Given the description of an element on the screen output the (x, y) to click on. 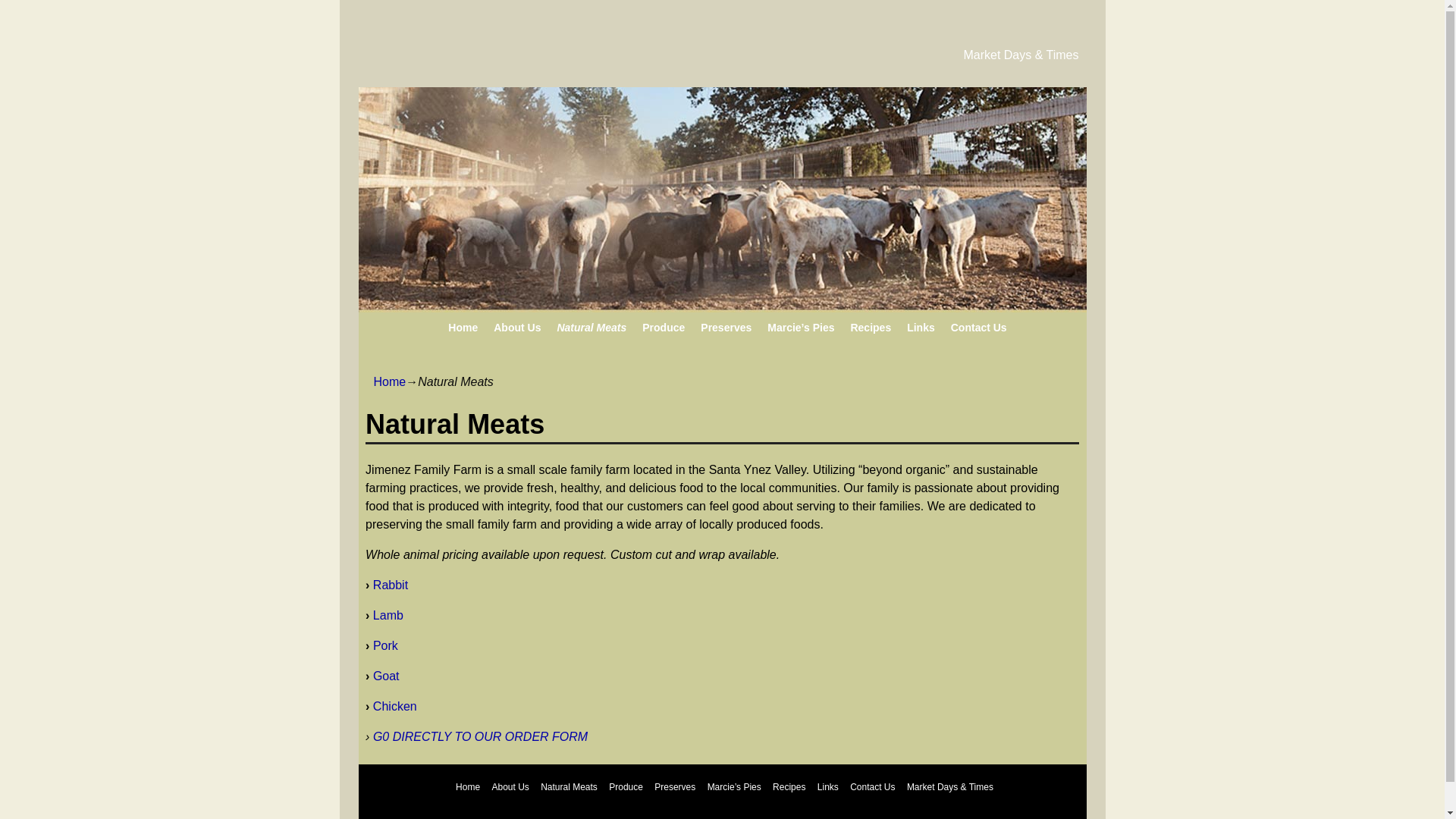
 Chicken (392, 706)
About Us (510, 787)
About Us (517, 327)
Preserves (726, 327)
Home (389, 381)
 Rabbit (388, 584)
Links (921, 327)
Produce (663, 327)
Recipes (871, 327)
Preserves (674, 787)
